Given the description of an element on the screen output the (x, y) to click on. 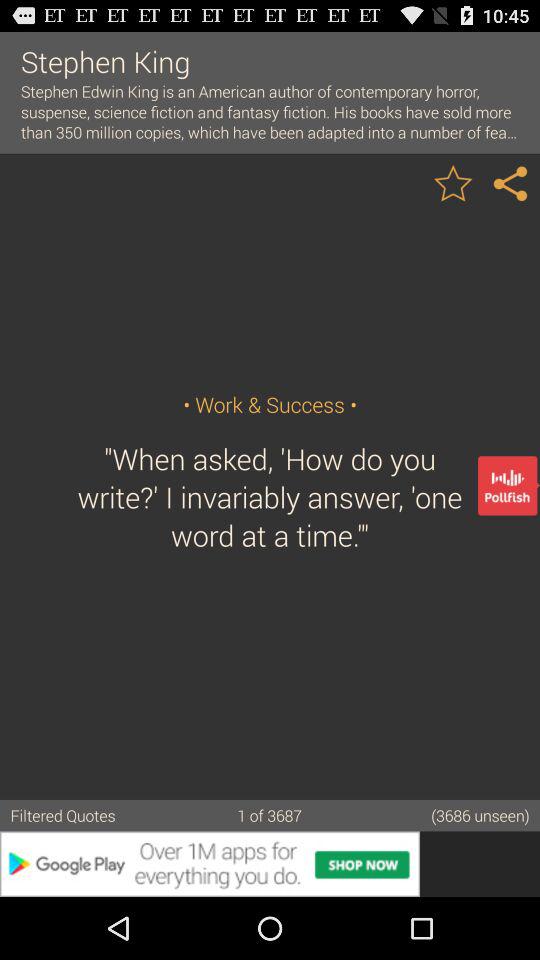
go to advertisement (270, 864)
